Given the description of an element on the screen output the (x, y) to click on. 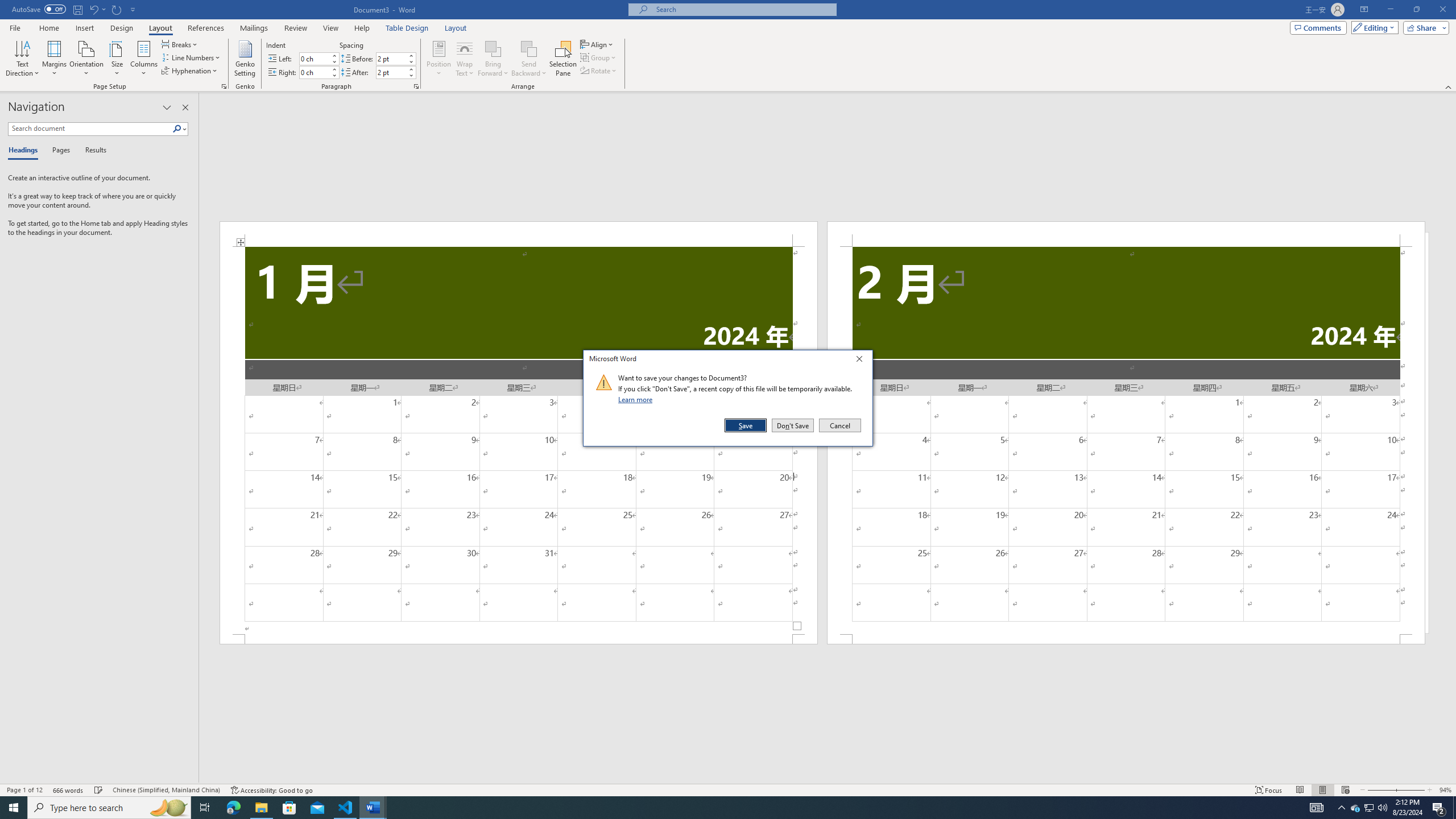
Page Number Page 1 of 12 (24, 790)
Footer -Section 2- (1126, 638)
Less (411, 75)
Margins (54, 58)
Group (599, 56)
Orientation (86, 58)
Selection Pane... (563, 58)
